Given the description of an element on the screen output the (x, y) to click on. 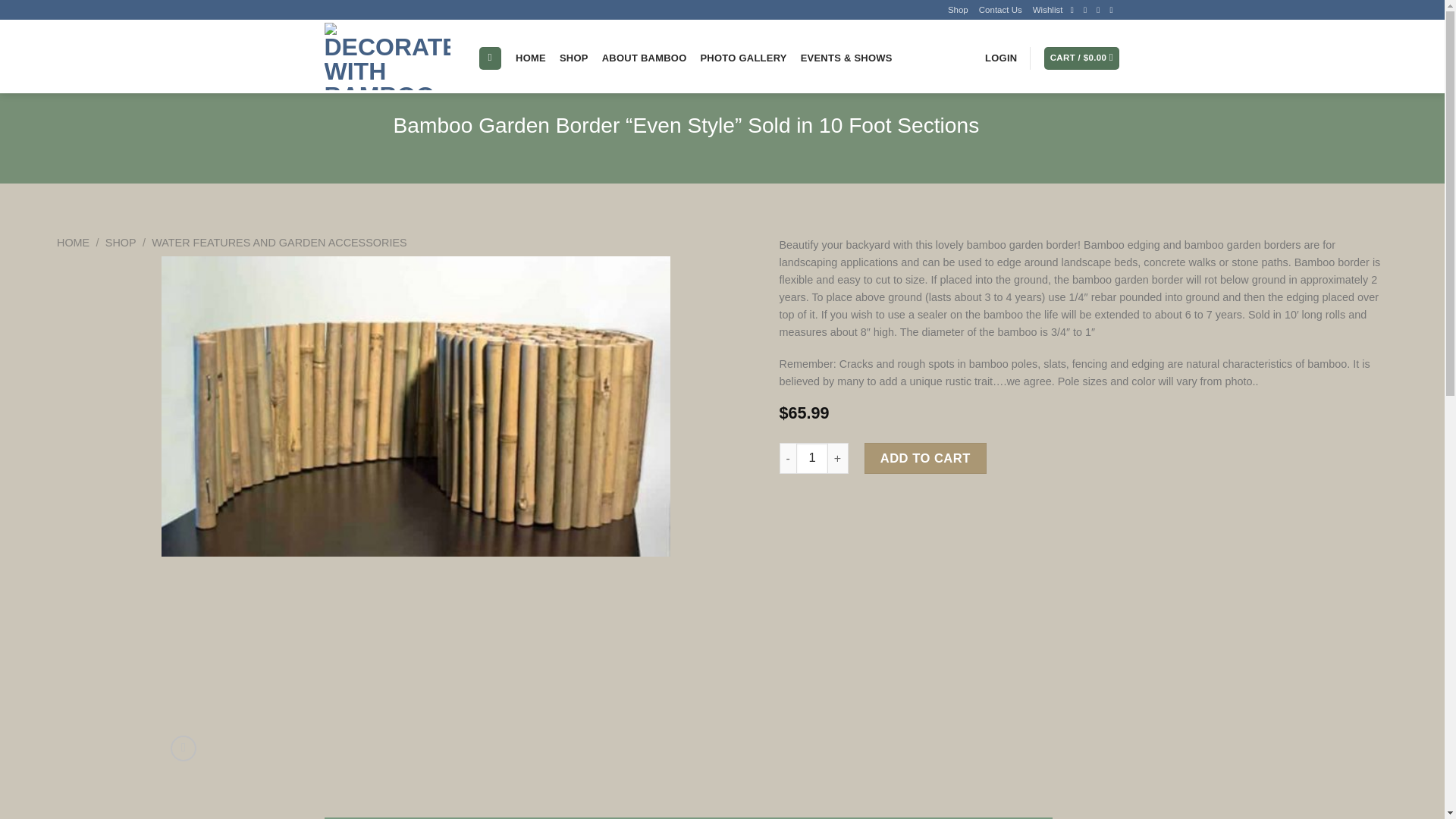
Wishlist (1047, 9)
Zoom (183, 748)
HOME (530, 58)
ABOUT BAMBOO (644, 58)
PHOTO GALLERY (743, 58)
1 (811, 459)
WATER FEATURES AND GARDEN ACCESSORIES (278, 242)
Follow on Pinterest (1113, 9)
HOME (72, 242)
